Given the description of an element on the screen output the (x, y) to click on. 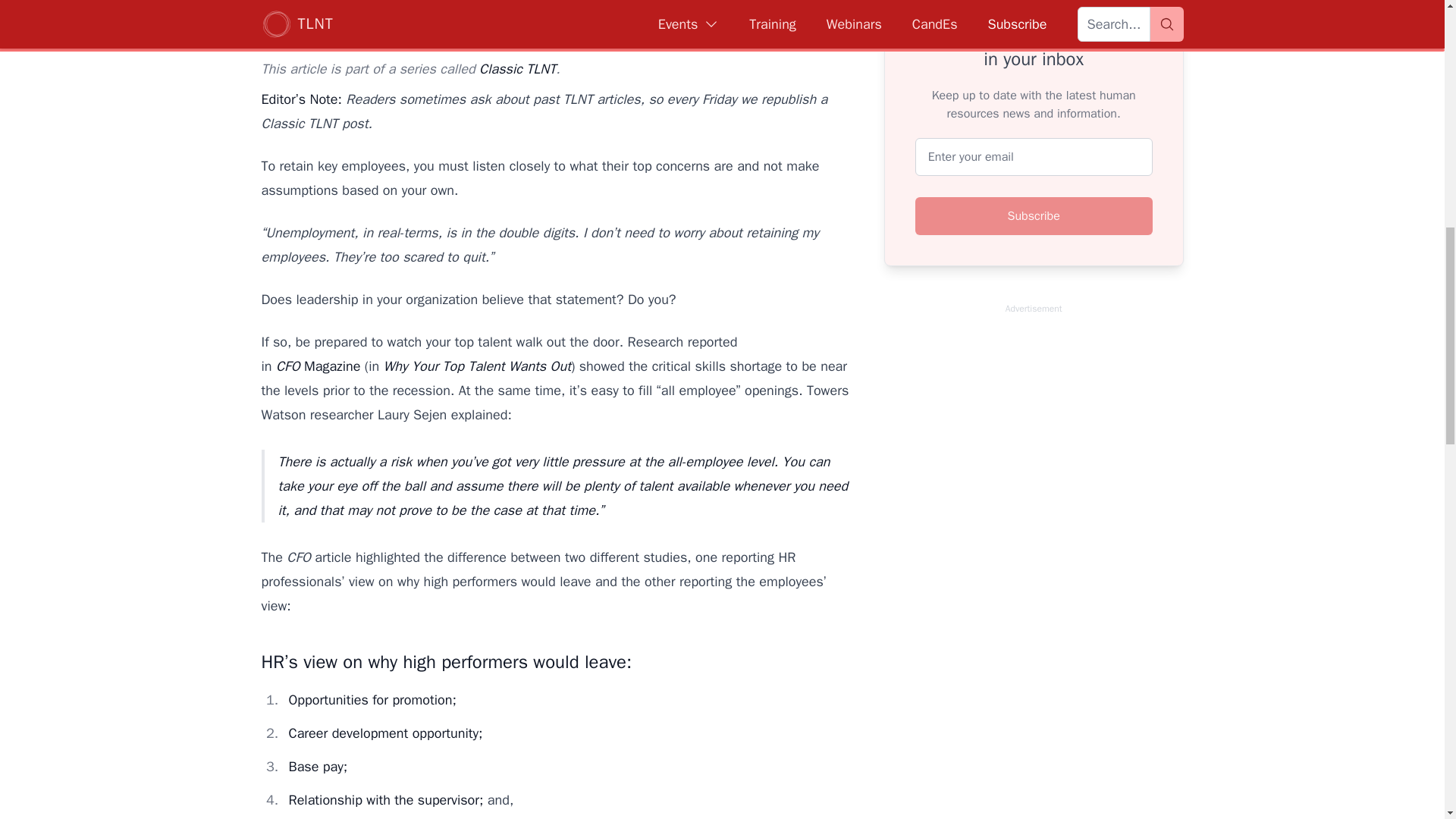
Why Your Top Talent Wants Out (477, 365)
CFO (287, 365)
 Magazine (330, 365)
Classic TLNT (517, 68)
